Given the description of an element on the screen output the (x, y) to click on. 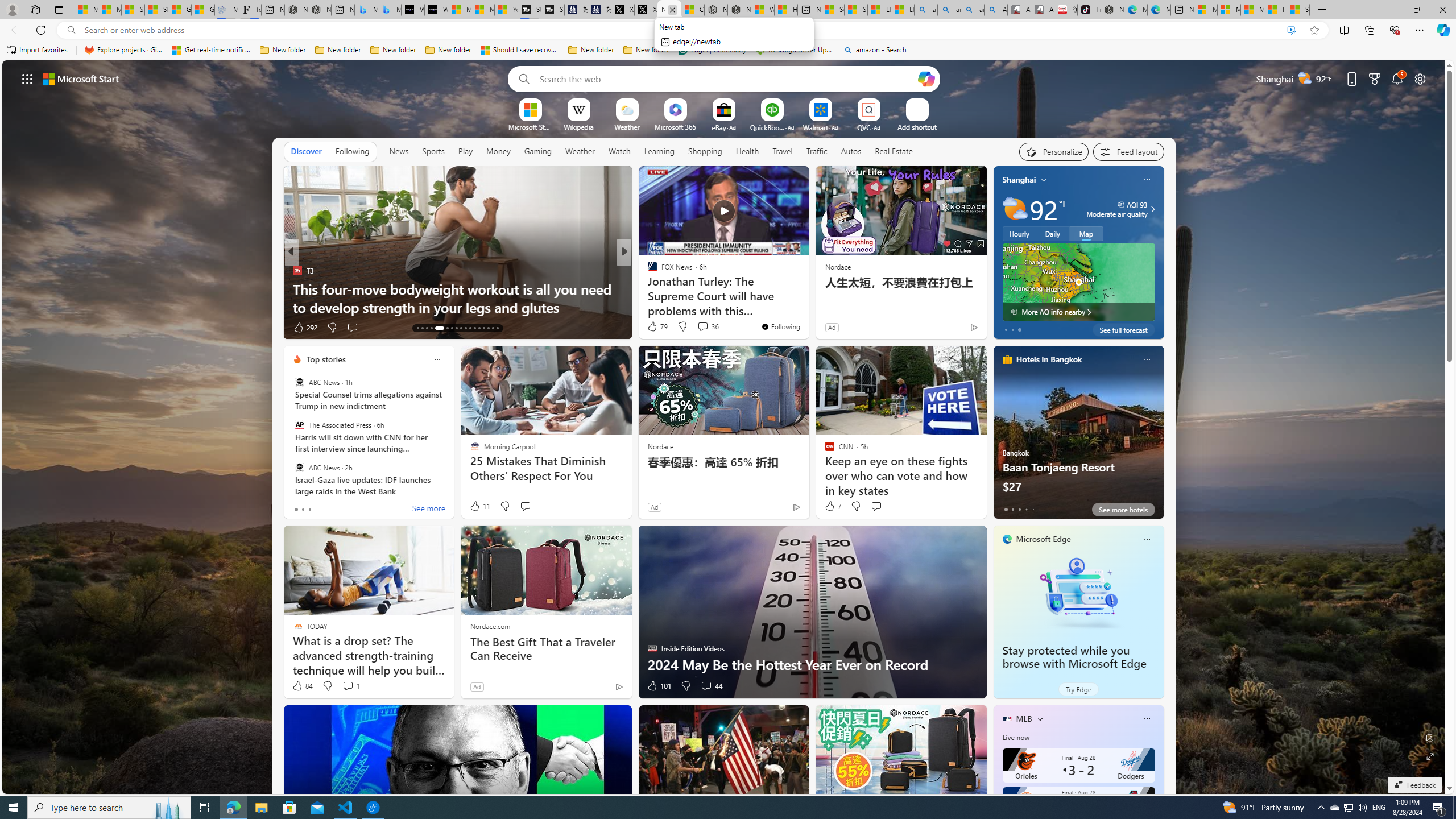
Nordace - #1 Japanese Best-Seller - Siena Smart Backpack (319, 9)
Weather (580, 151)
Favorites bar (728, 49)
Add this page to favorites (Ctrl+D) (1314, 29)
Copilot (Ctrl+Shift+.) (1442, 29)
AutomationID: tab-21 (460, 328)
AutomationID: tab-14 (422, 328)
Baan Tonjaeng Resort (1078, 436)
Stay protected while you browse with Microsoft Edge (1074, 657)
ABC News (299, 466)
My location (1043, 179)
hotels-header-icon (1006, 358)
Sports (432, 151)
View comments 312 Comment (709, 327)
